Given the description of an element on the screen output the (x, y) to click on. 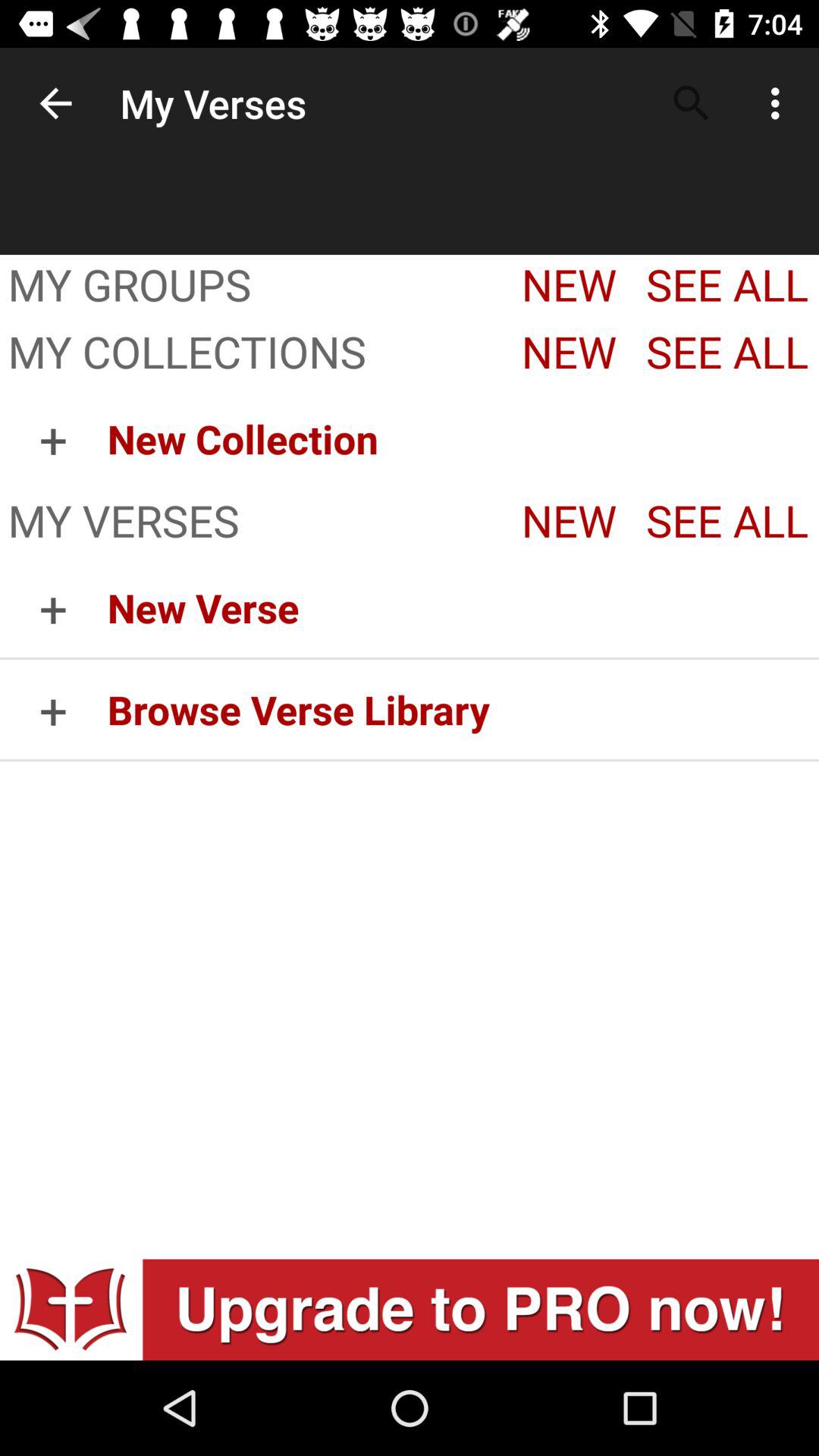
press app below my verses item (463, 607)
